Given the description of an element on the screen output the (x, y) to click on. 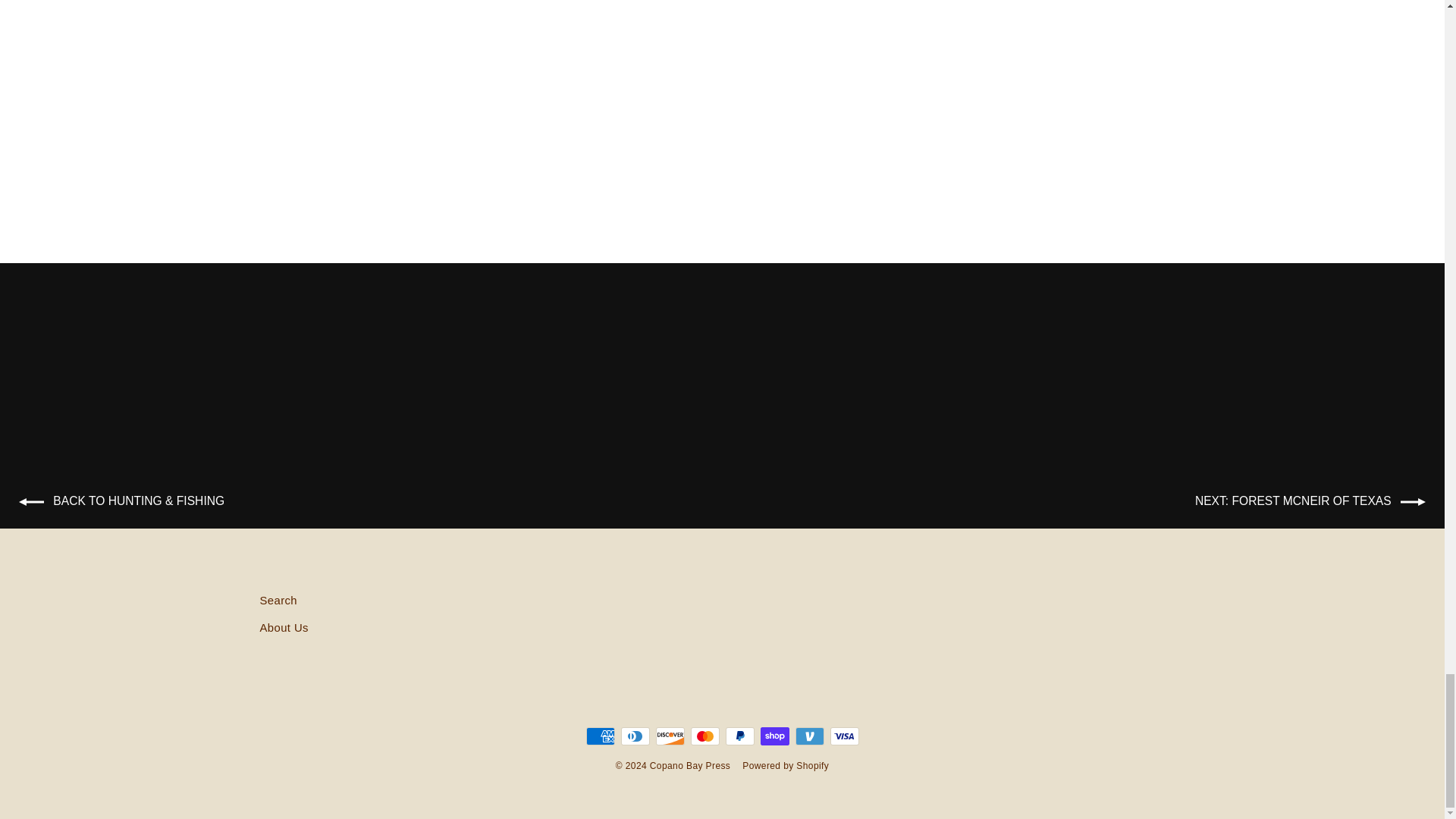
Mastercard (704, 736)
PayPal (739, 736)
Discover (669, 736)
Shop Pay (774, 736)
American Express (599, 736)
Diners Club (634, 736)
Venmo (809, 736)
Visa (844, 736)
